Given the description of an element on the screen output the (x, y) to click on. 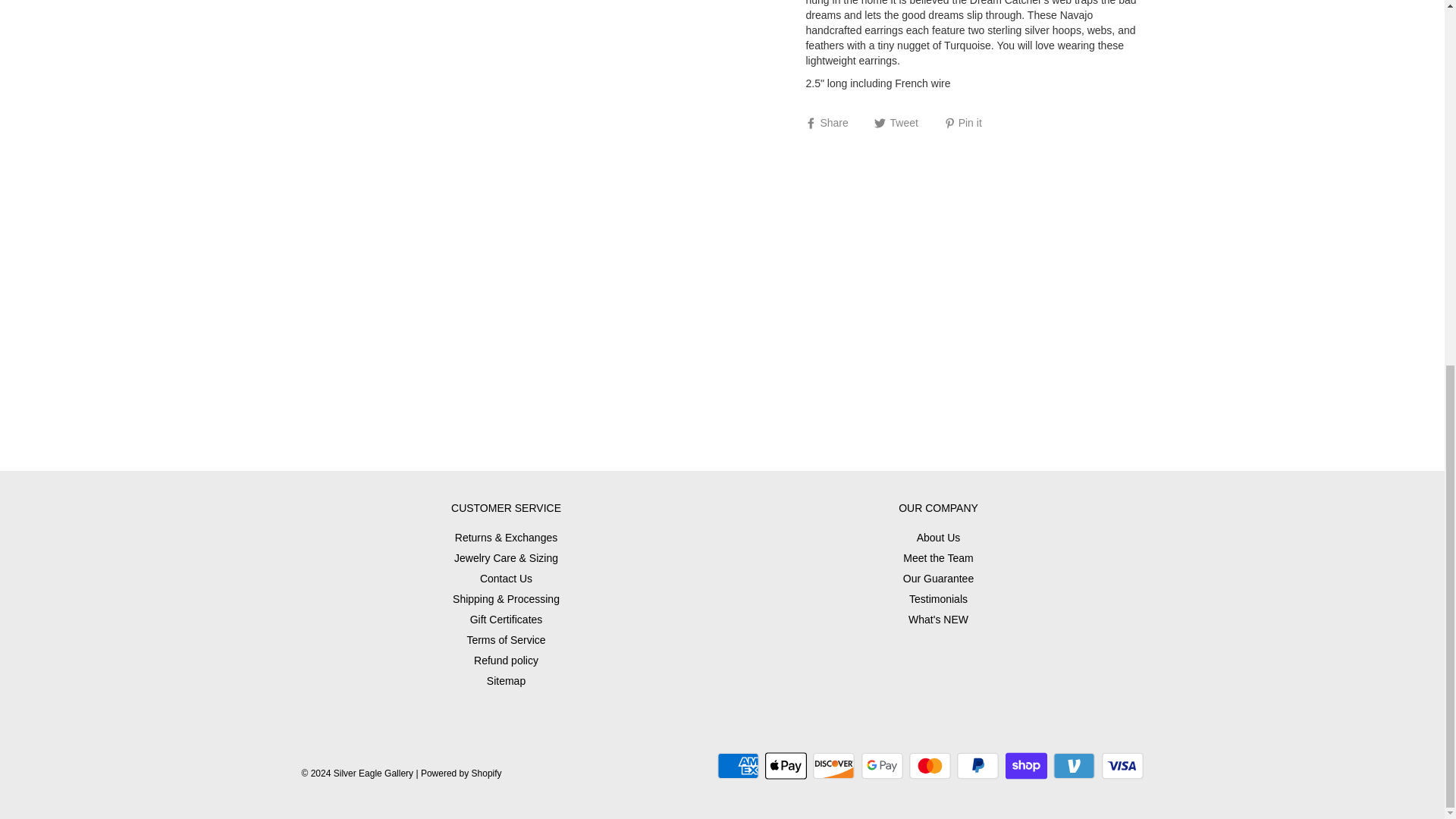
PayPal (977, 766)
Visa (1121, 766)
Apple Pay (785, 766)
Google Pay (881, 766)
Venmo (1073, 766)
Discover (833, 766)
American Express (737, 766)
Mastercard (929, 766)
Shop Pay (1026, 766)
